Given the description of an element on the screen output the (x, y) to click on. 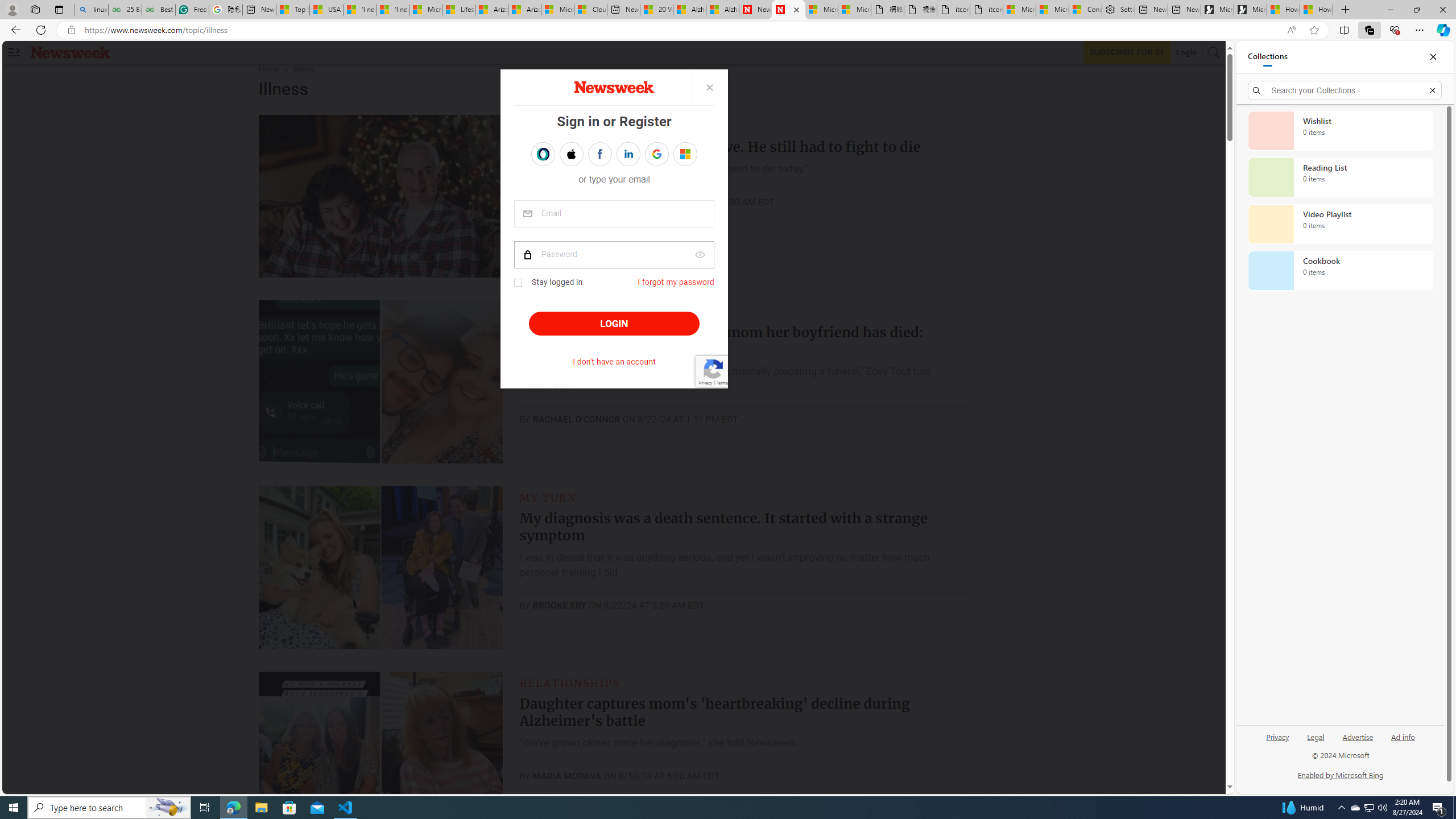
Newsweek - News, Analysis, Politics, Business, Technology (755, 9)
Newsweek logo (70, 51)
Sign in with GOOGLE (656, 154)
Sign in as Eugene EugeneLedger601@outlook.com (684, 154)
Login (1186, 51)
ON THE INTERNET (576, 312)
Sign in with APPLE (571, 154)
Sign in with OPENPASS (541, 154)
